Given the description of an element on the screen output the (x, y) to click on. 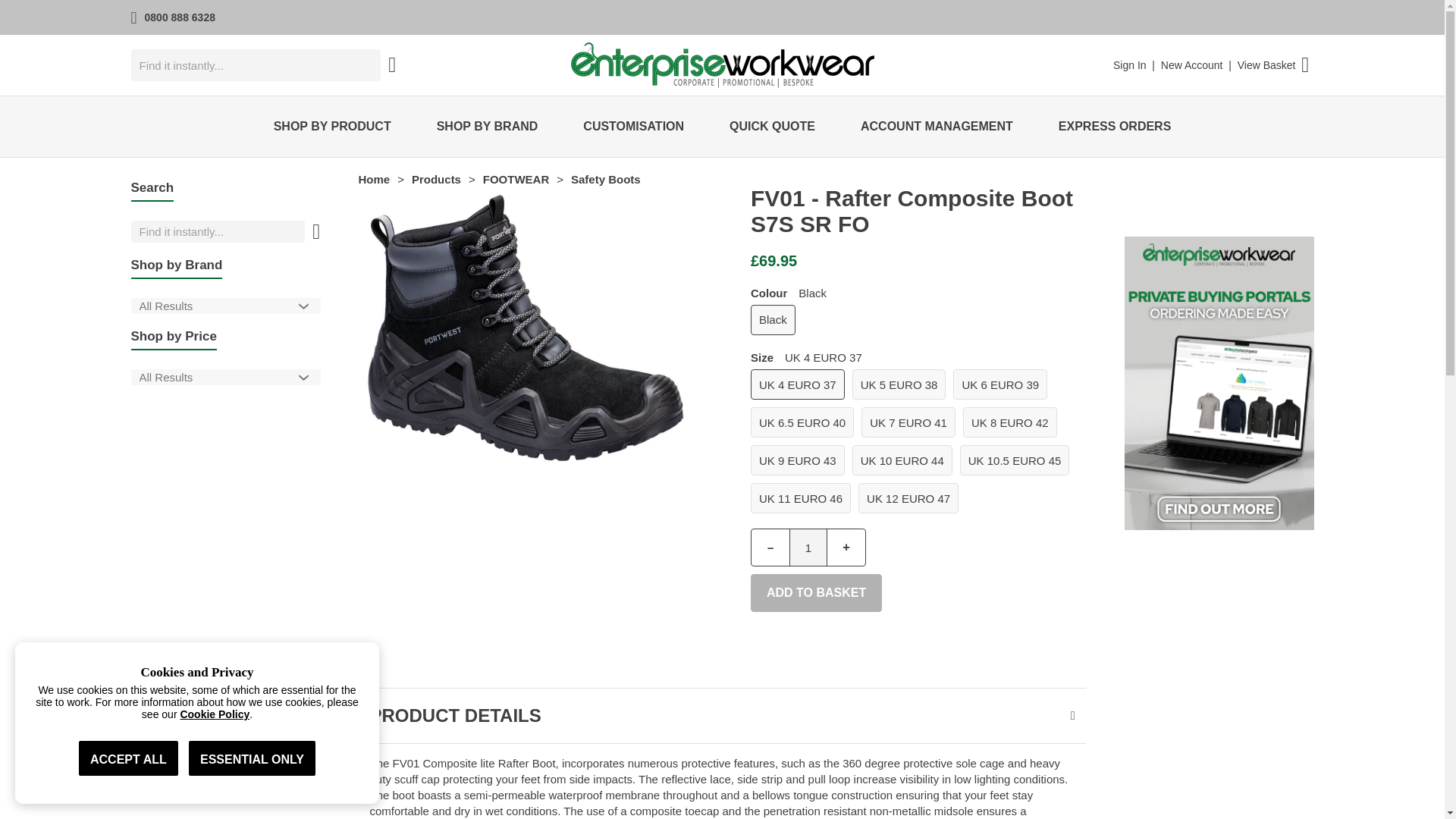
View Basket (1266, 64)
0800 888 6328 (179, 17)
Sign In (1130, 64)
SHOP BY PRODUCT (331, 126)
1 (808, 547)
New Account (1191, 64)
